Given the description of an element on the screen output the (x, y) to click on. 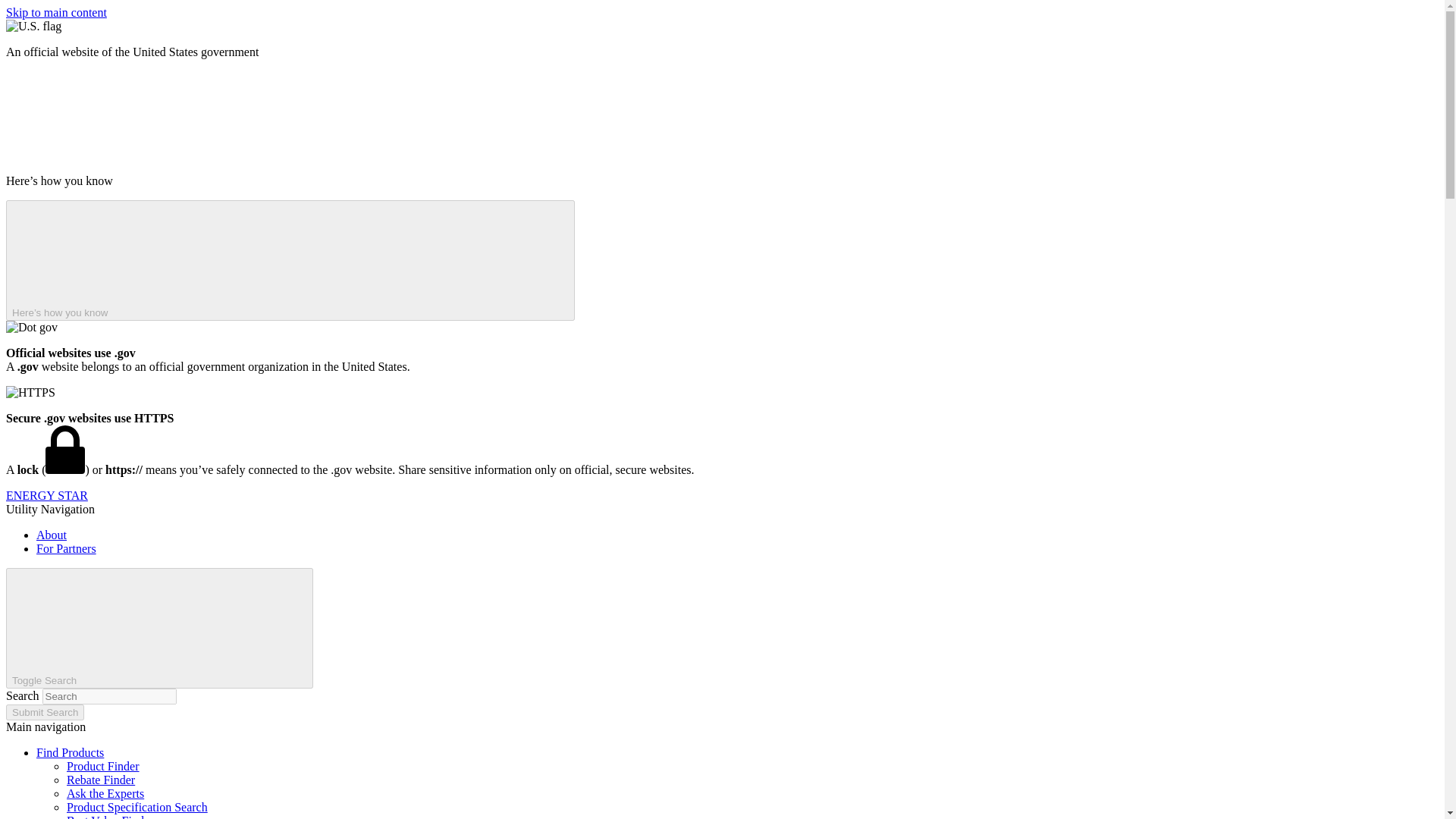
Home (46, 495)
Find Products (69, 752)
Submit Search (44, 712)
For Partners (66, 548)
Best Value Finder (109, 816)
Magnifying Glass Icon (193, 626)
Skip to main content (55, 11)
ENERGY STAR (46, 495)
Rebate Finder (100, 779)
Toggle Search Magnifying Glass Icon (159, 628)
About (51, 534)
Product Finder (102, 766)
Product Specification Search (137, 807)
Ask the Experts (105, 793)
